Given the description of an element on the screen output the (x, y) to click on. 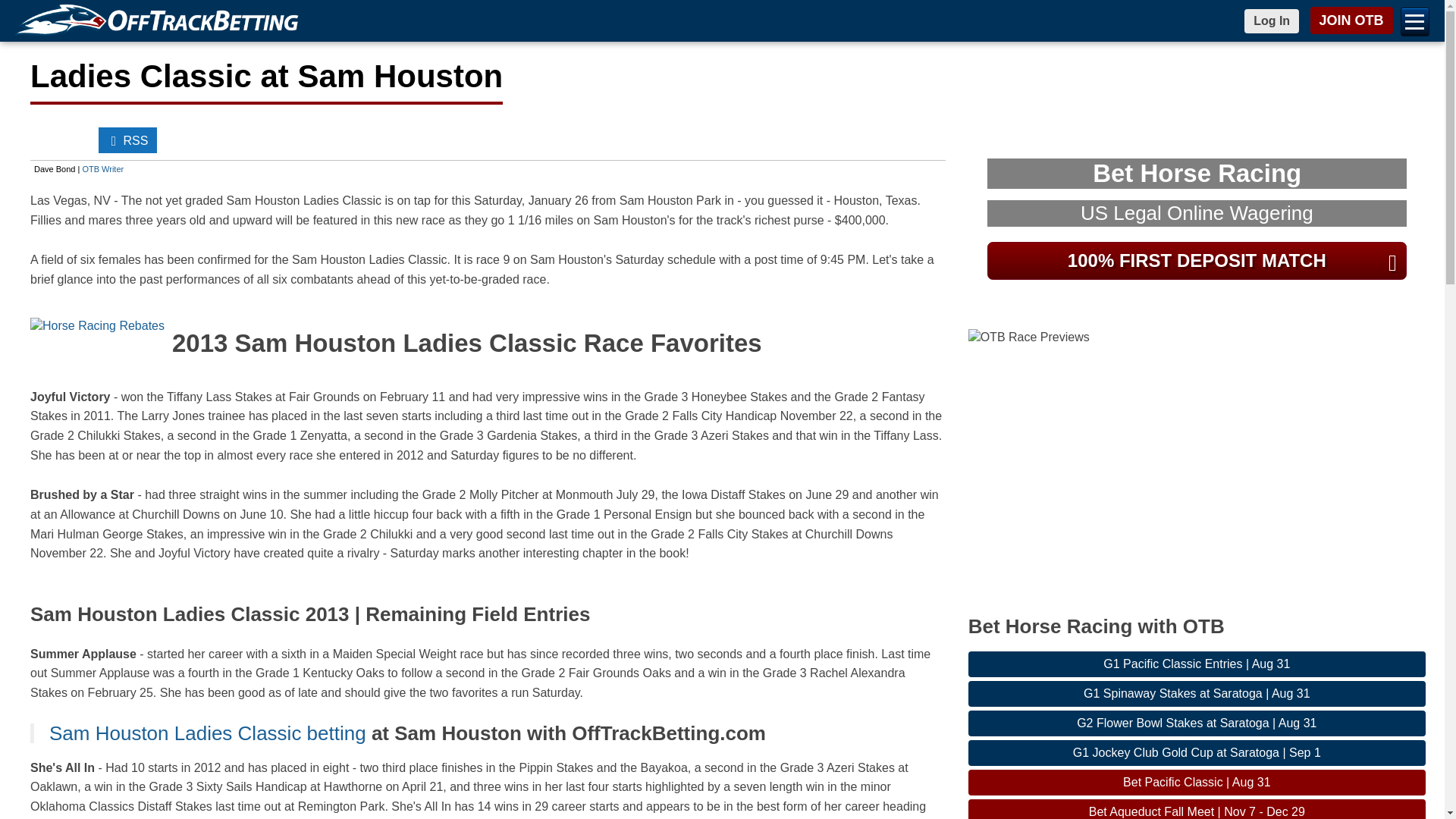
Share with Facebook (45, 139)
Bet Aqueduct with OTB (1196, 809)
Share with Twitter (77, 139)
2024 Spinaway Stakes Entries Odds (1196, 693)
Off Track Betting (159, 20)
Horse Racing RSS Feeds (128, 140)
2024 Flower Bowl Stakes Entries Odds (1196, 723)
Sam Houston Ladies Classic betting (207, 732)
Horse Racing Rebates (97, 325)
2024 Jockey Club Gold Cup Entries Odds (1196, 752)
